Given the description of an element on the screen output the (x, y) to click on. 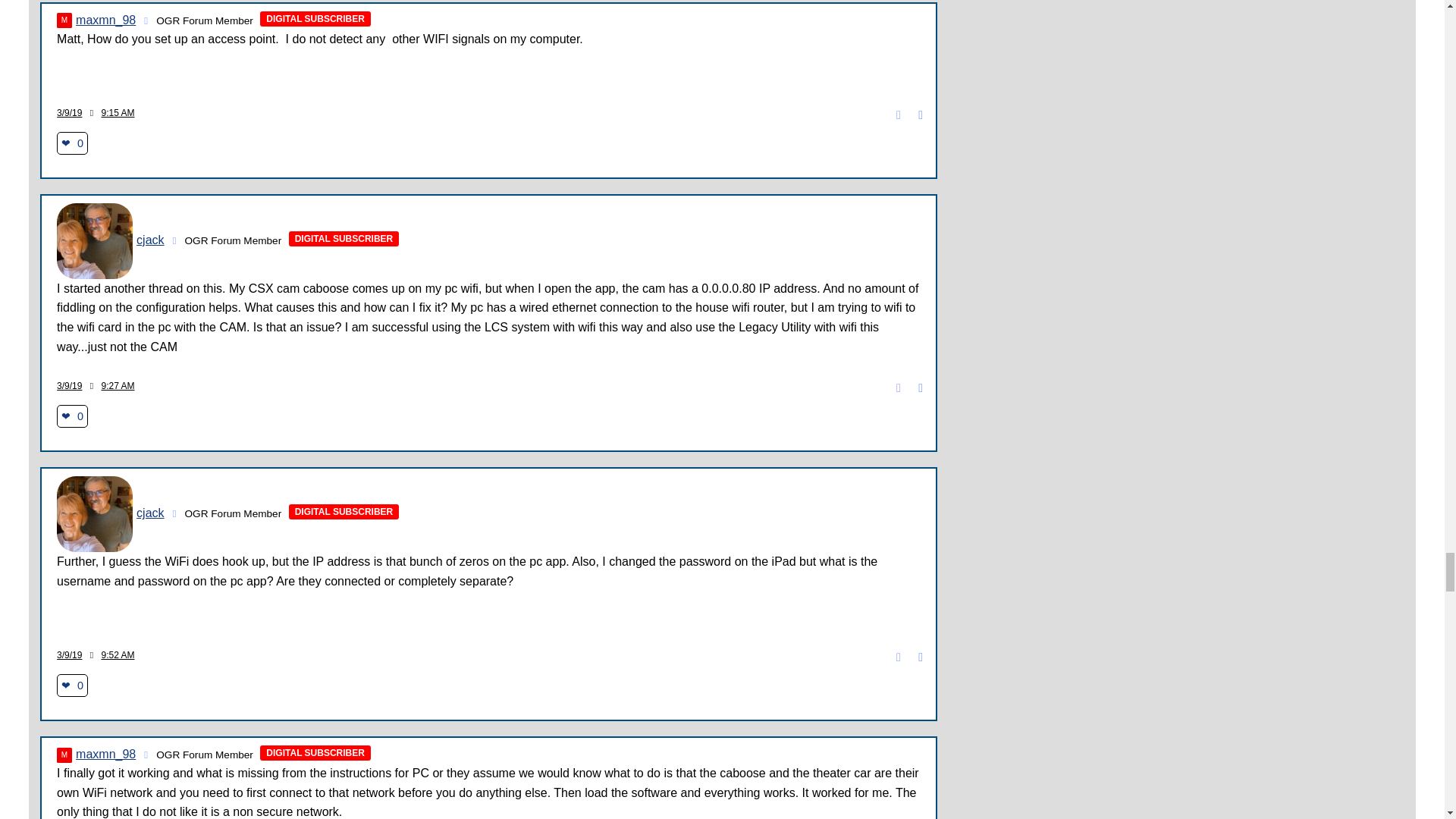
M (63, 754)
M (63, 20)
